Given the description of an element on the screen output the (x, y) to click on. 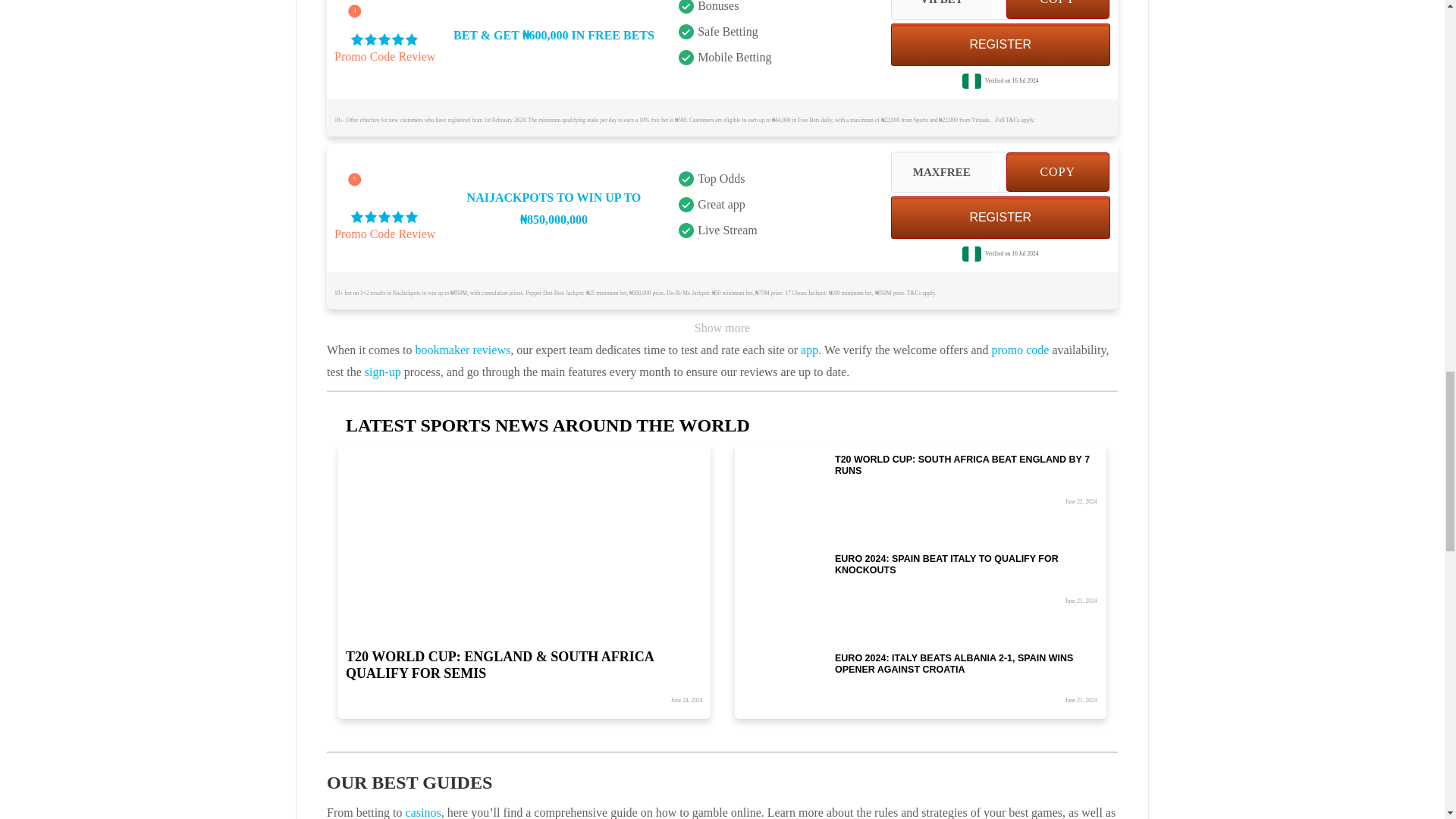
MAXFREE (941, 171)
VIPBET (941, 9)
